Given the description of an element on the screen output the (x, y) to click on. 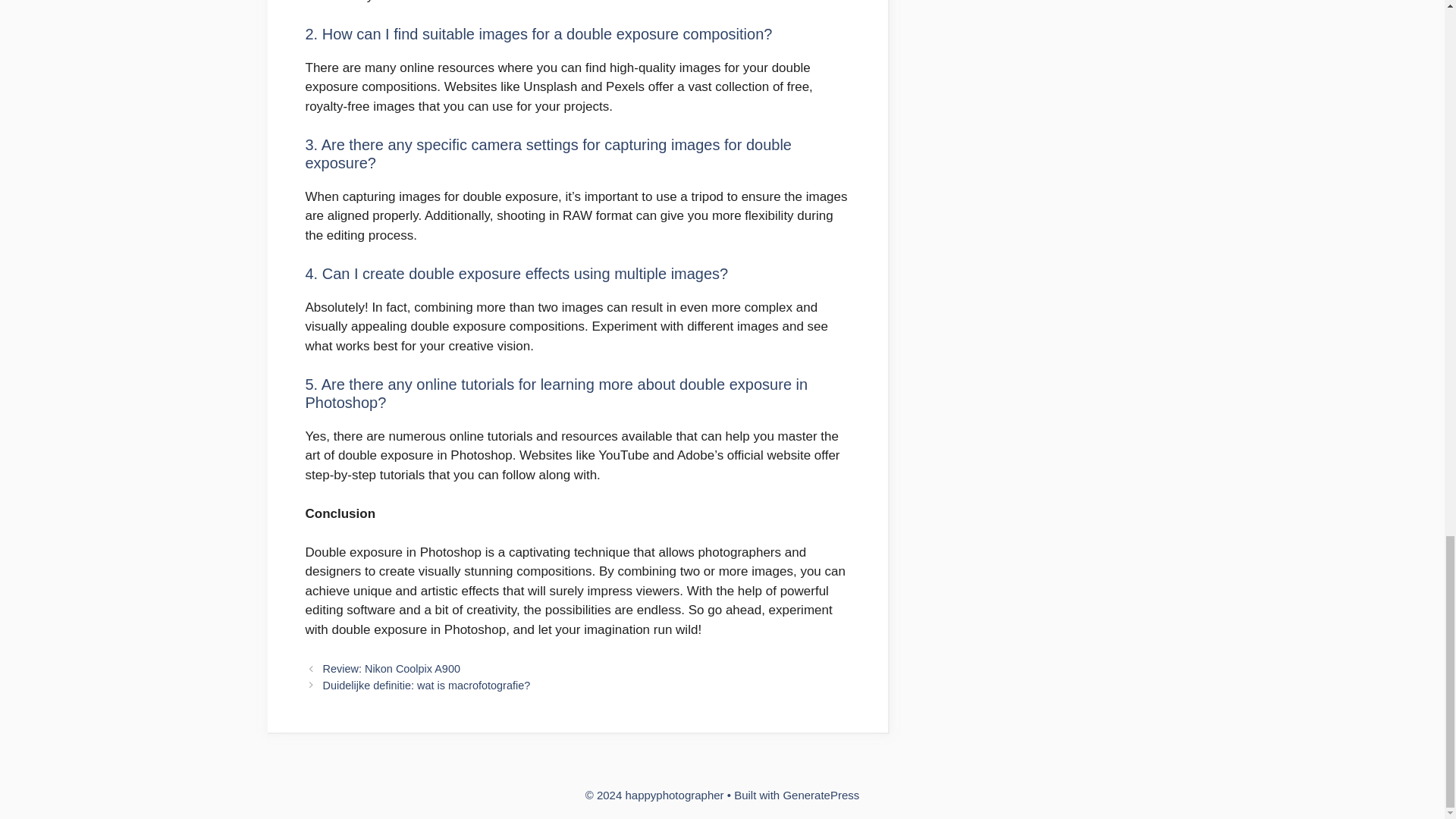
Duidelijke definitie: wat is macrofotografie? (427, 685)
Review: Nikon Coolpix A900 (391, 668)
GeneratePress (821, 794)
